Given the description of an element on the screen output the (x, y) to click on. 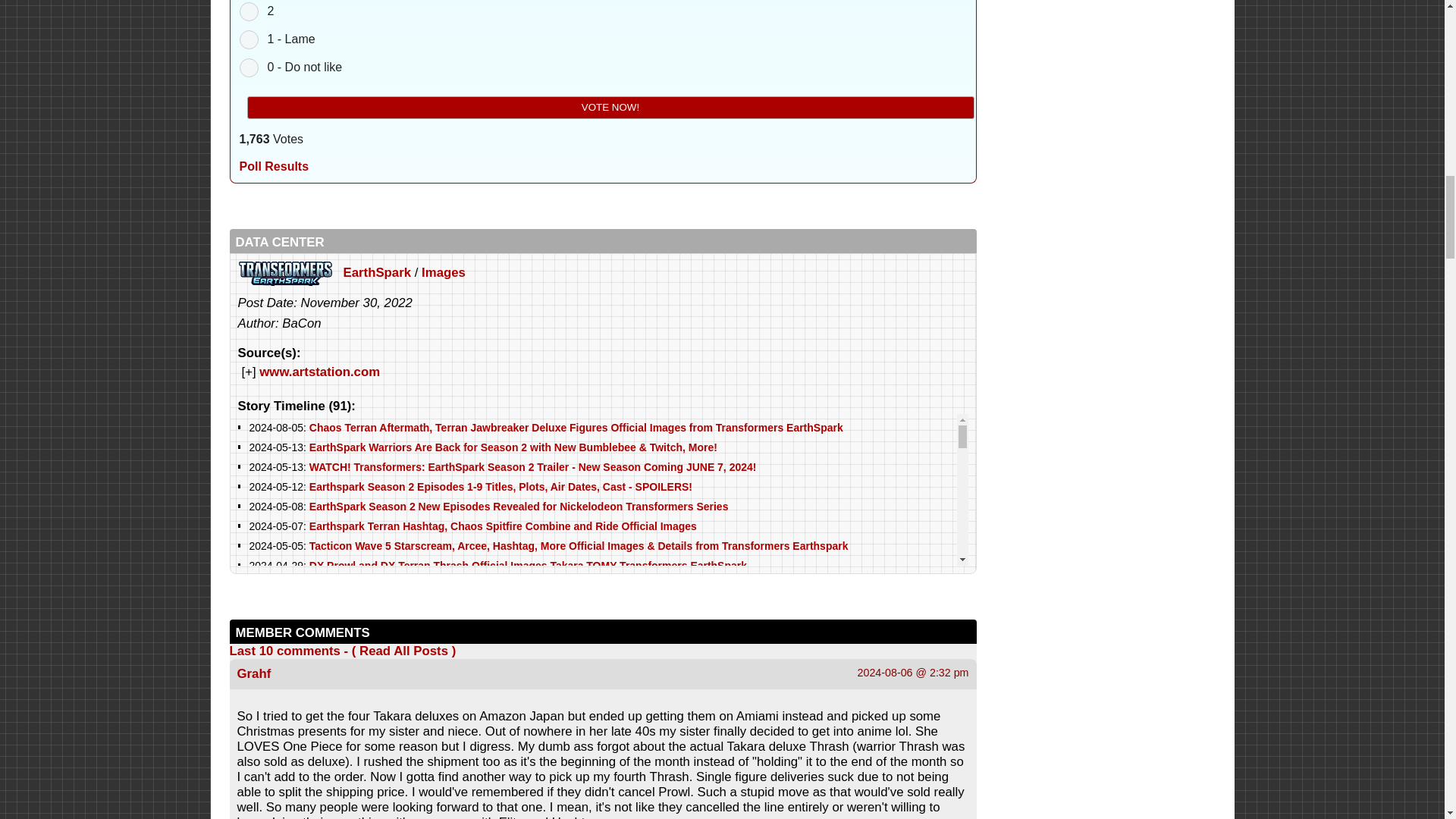
Poll Results (274, 165)
VOTE NOW! (610, 107)
www.artstation.com (319, 371)
5 (249, 39)
6 (249, 67)
4 (249, 11)
EarthSpark (376, 272)
Images (443, 272)
VOTE NOW! (610, 107)
